Given the description of an element on the screen output the (x, y) to click on. 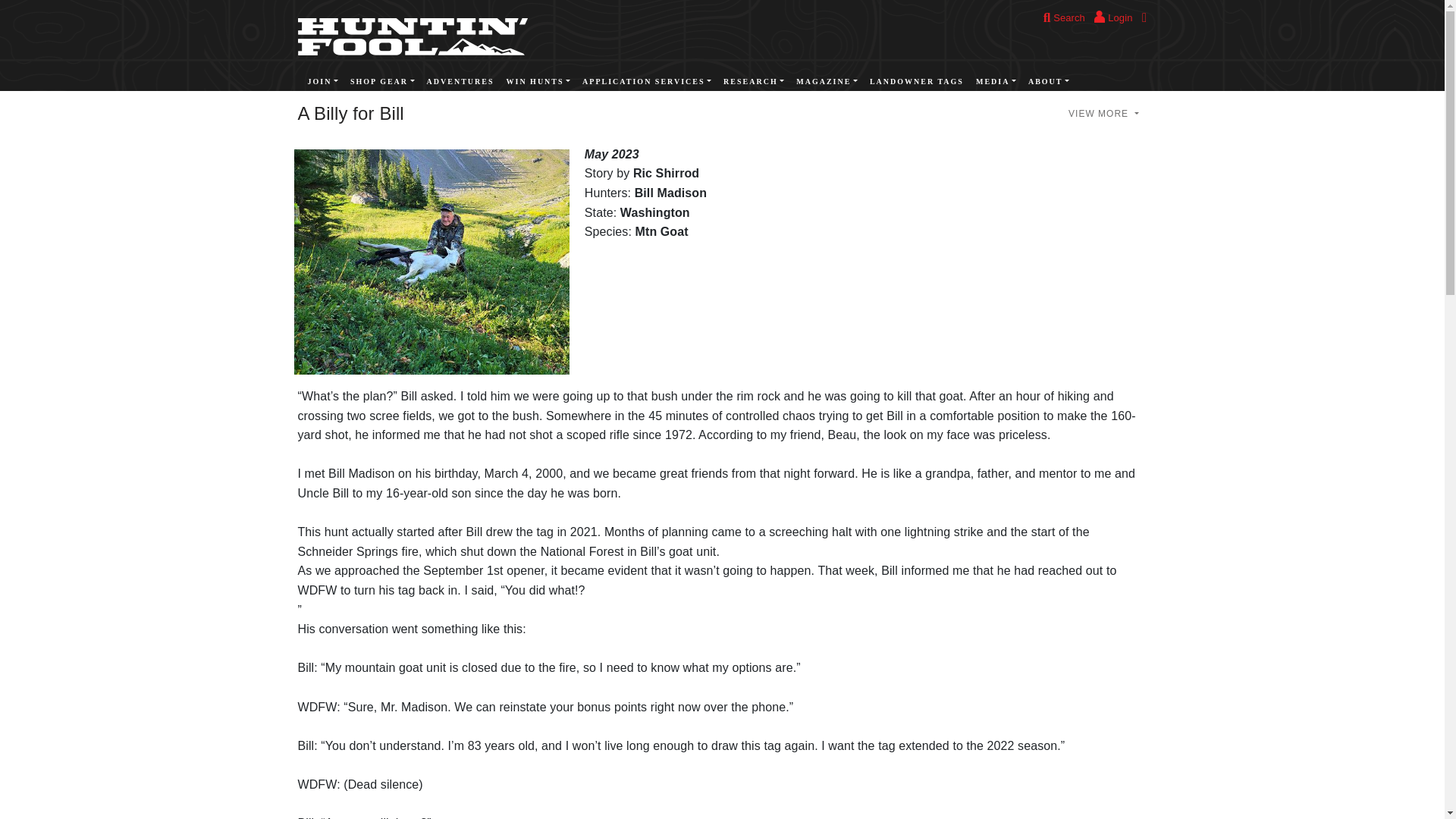
RESEARCH (753, 81)
Login (1113, 18)
JOIN (322, 81)
WIN HUNTS (537, 81)
Search (1063, 18)
ADVENTURES (460, 81)
SHOP GEAR (381, 81)
APPLICATION SERVICES (646, 81)
